Given the description of an element on the screen output the (x, y) to click on. 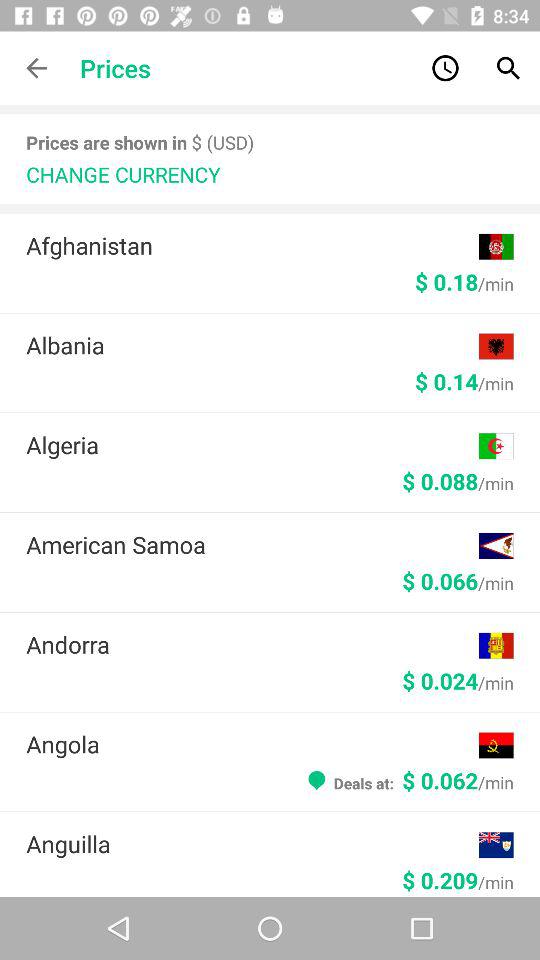
turn on icon below the $ 0.066/min (252, 644)
